Given the description of an element on the screen output the (x, y) to click on. 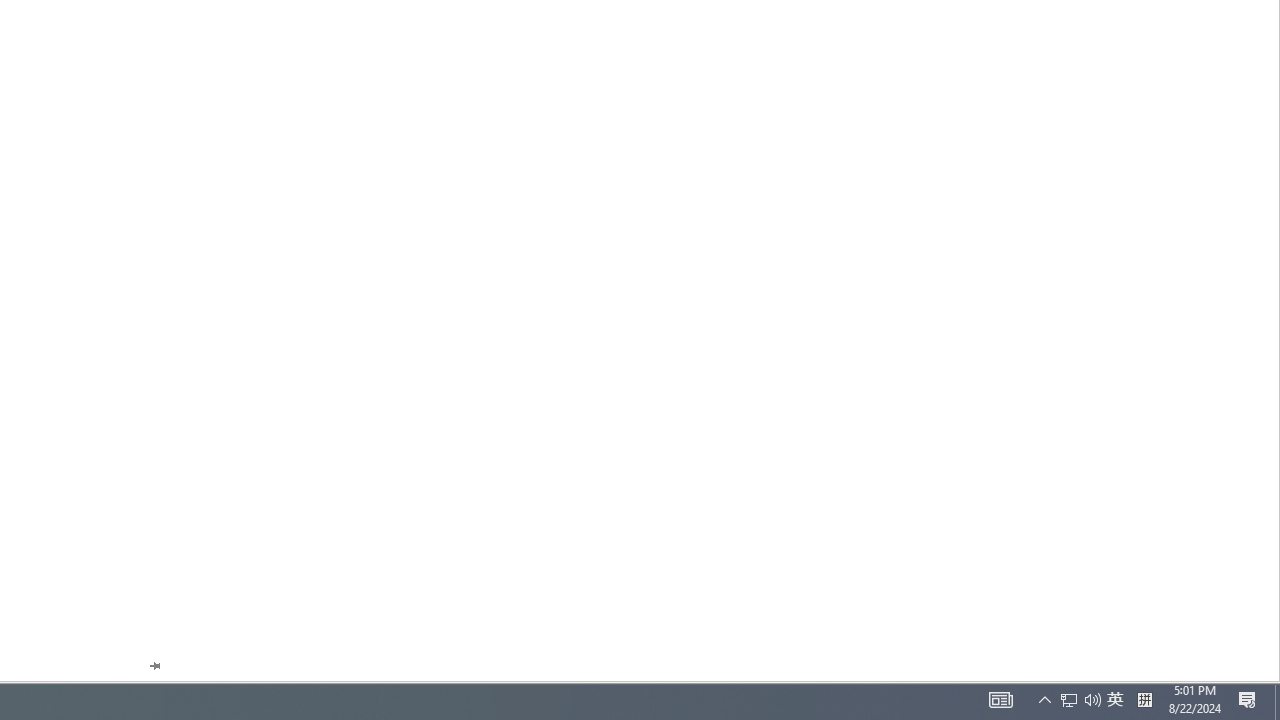
Pin the Dock (Windows logo key+Shift+I) (154, 665)
